Given the description of an element on the screen output the (x, y) to click on. 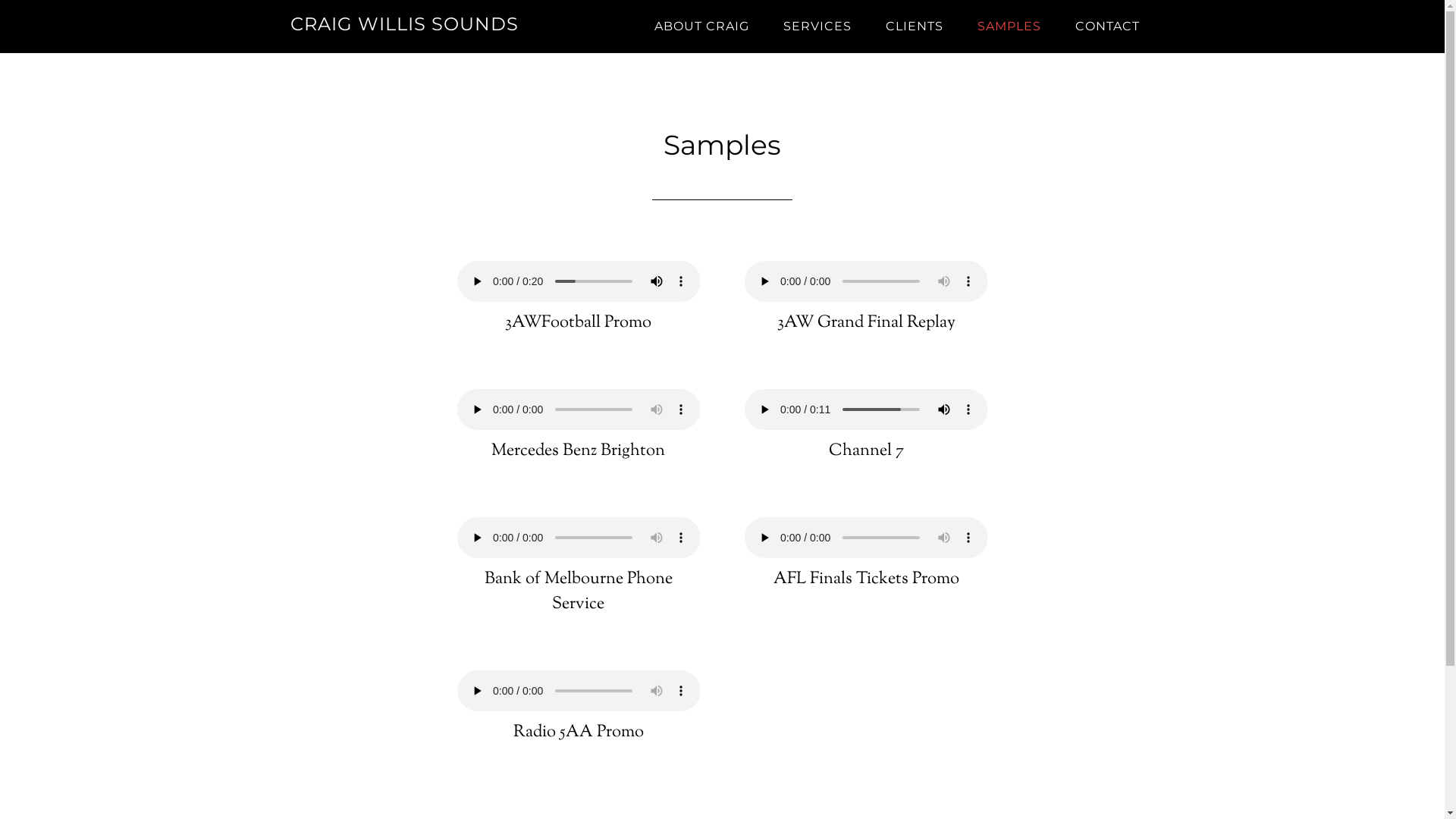
SAMPLES Element type: text (1008, 26)
ABOUT CRAIG Element type: text (700, 26)
SERVICES Element type: text (816, 26)
CONTACT Element type: text (1107, 26)
CRAIG WILLIS SOUNDS Element type: text (403, 23)
CLIENTS Element type: text (914, 26)
